Given the description of an element on the screen output the (x, y) to click on. 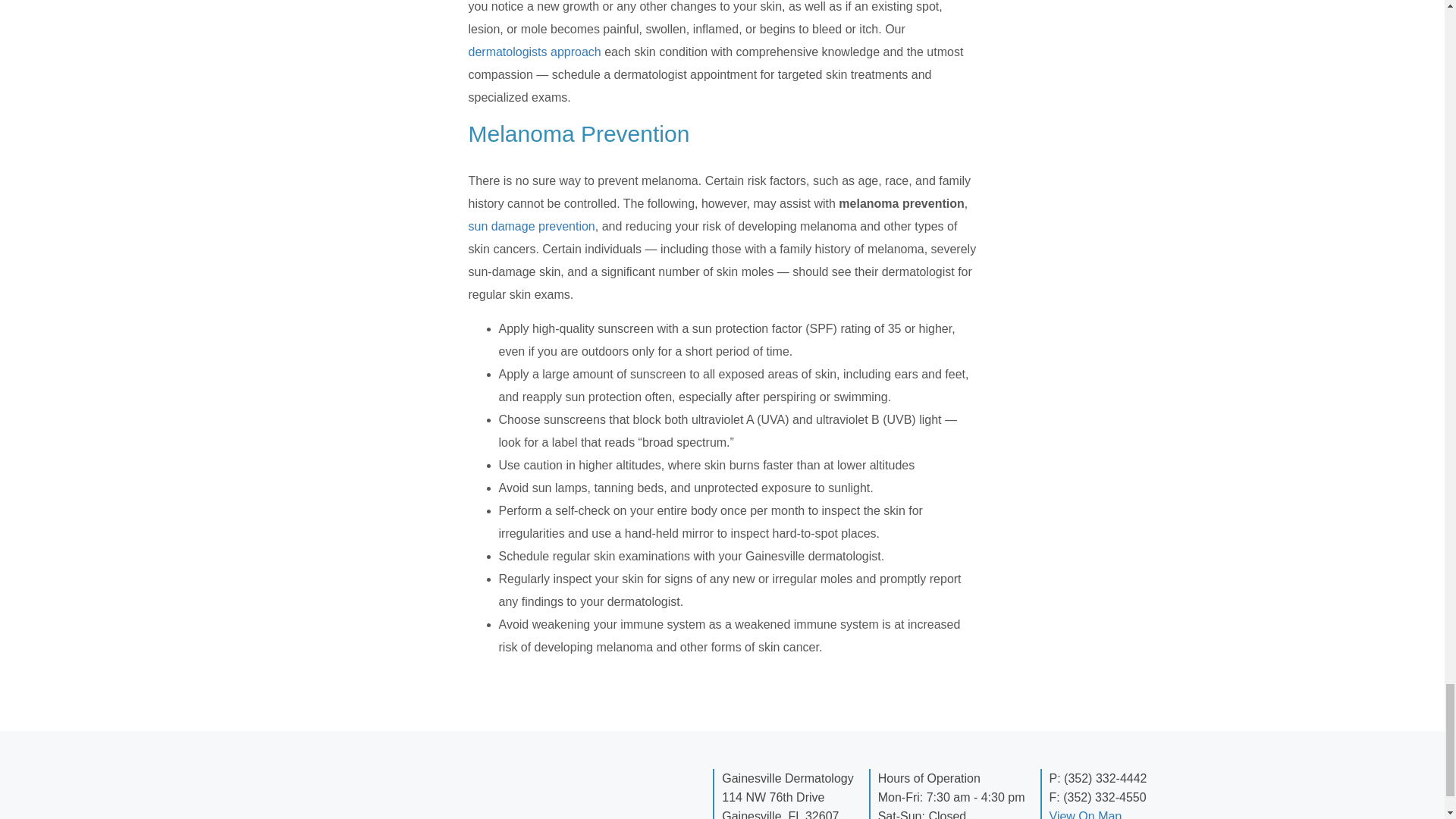
View On Map (1085, 814)
sun damage prevention (531, 226)
dermatologists approach (534, 51)
